Given the description of an element on the screen output the (x, y) to click on. 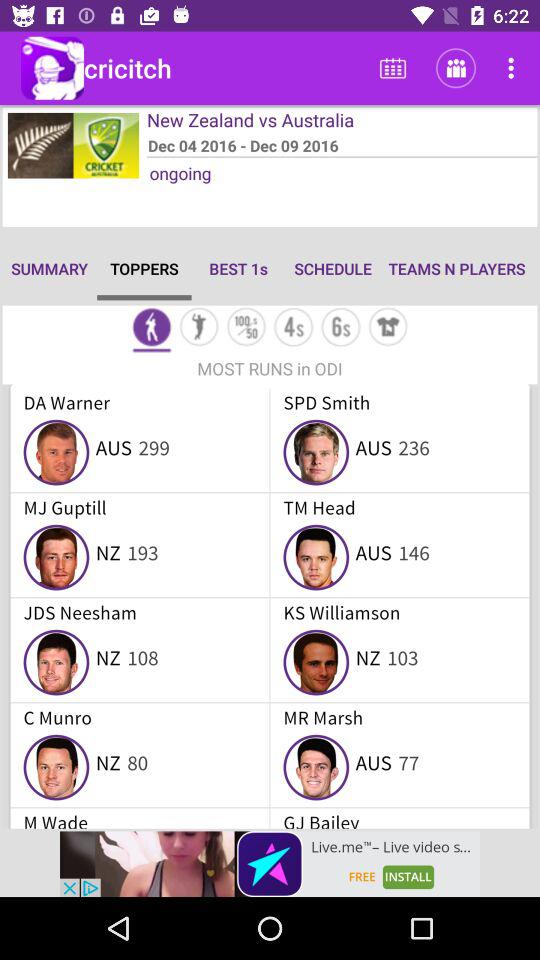
menu button (293, 328)
